Given the description of an element on the screen output the (x, y) to click on. 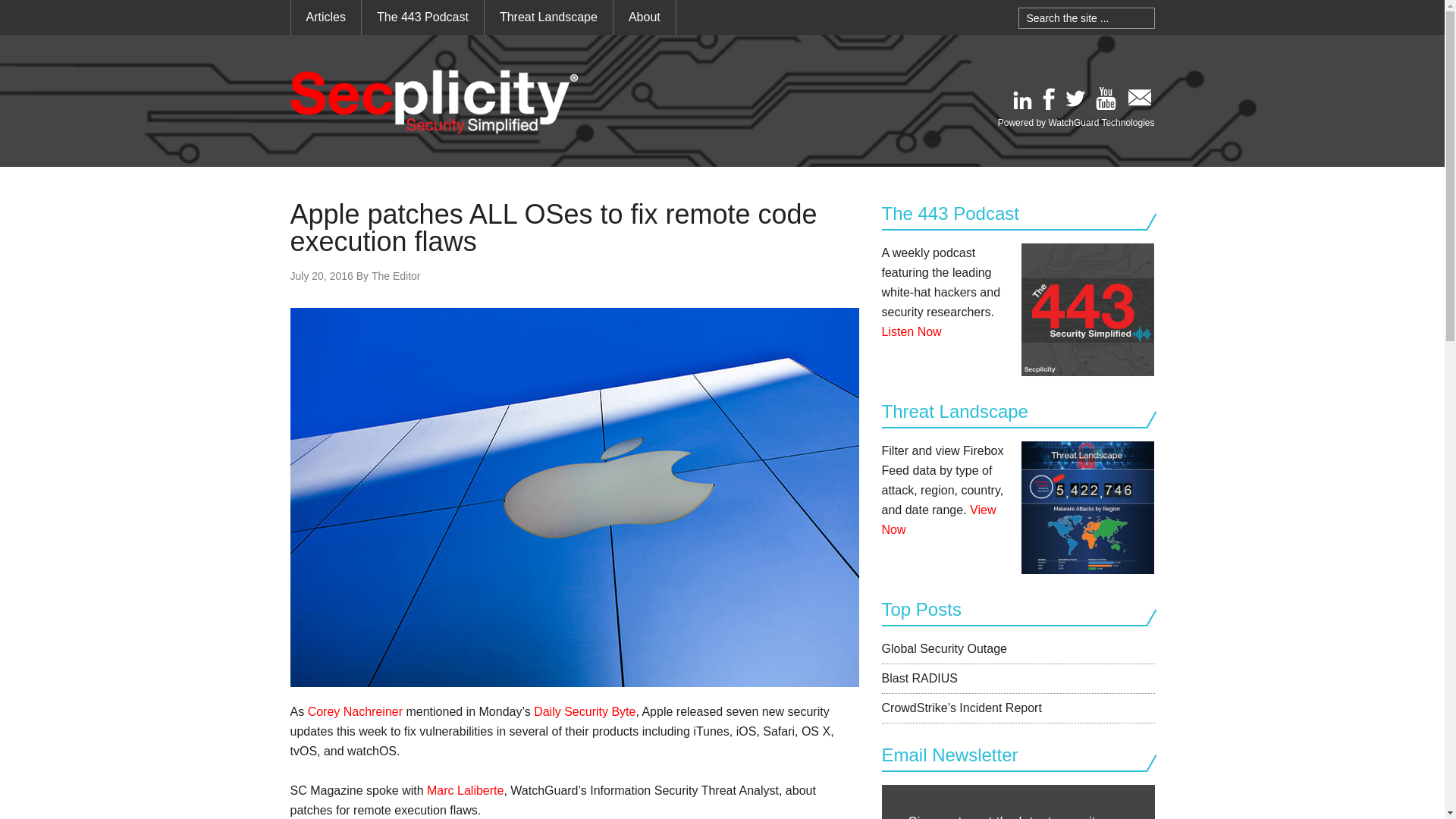
About (643, 17)
Corey Nachreiner (355, 711)
Marc Laliberte (464, 789)
Daily Security Byte (584, 711)
Articles (326, 17)
Secplicity - Security Simplified (433, 101)
View Now (937, 519)
The 443 Podcast (422, 17)
Blast RADIUS (918, 677)
Global Security Outage (943, 648)
Threat Landscape (548, 17)
Listen Now (910, 331)
The Editor (395, 275)
